Given the description of an element on the screen output the (x, y) to click on. 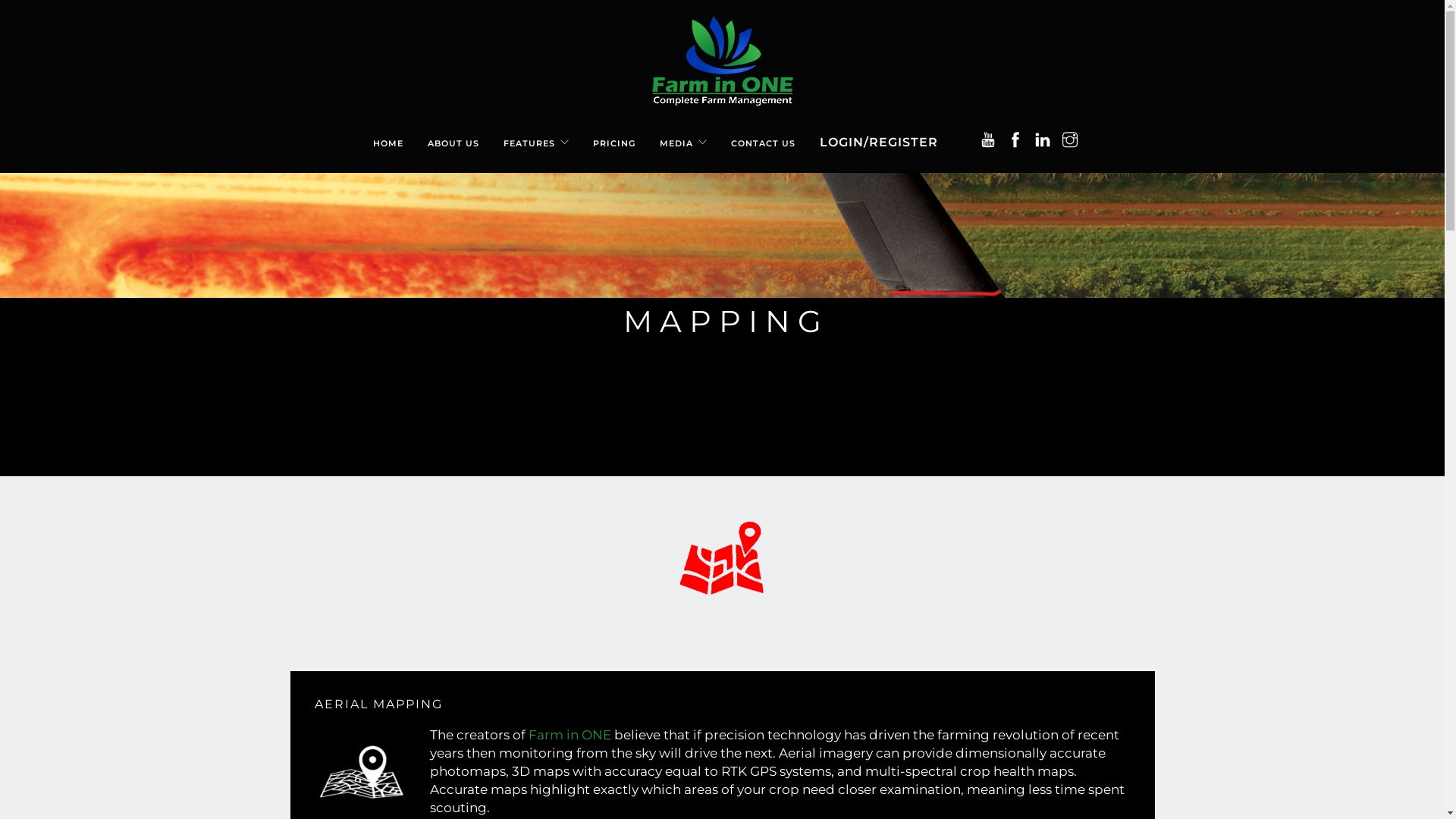
MEDIA Element type: text (676, 135)
PRICING Element type: text (614, 135)
CONTACT US Element type: text (763, 135)
LOGIN/REGISTER Element type: text (878, 134)
HOME Element type: text (388, 135)
ABOUT US Element type: text (453, 135)
FEATURES Element type: text (529, 135)
